Given the description of an element on the screen output the (x, y) to click on. 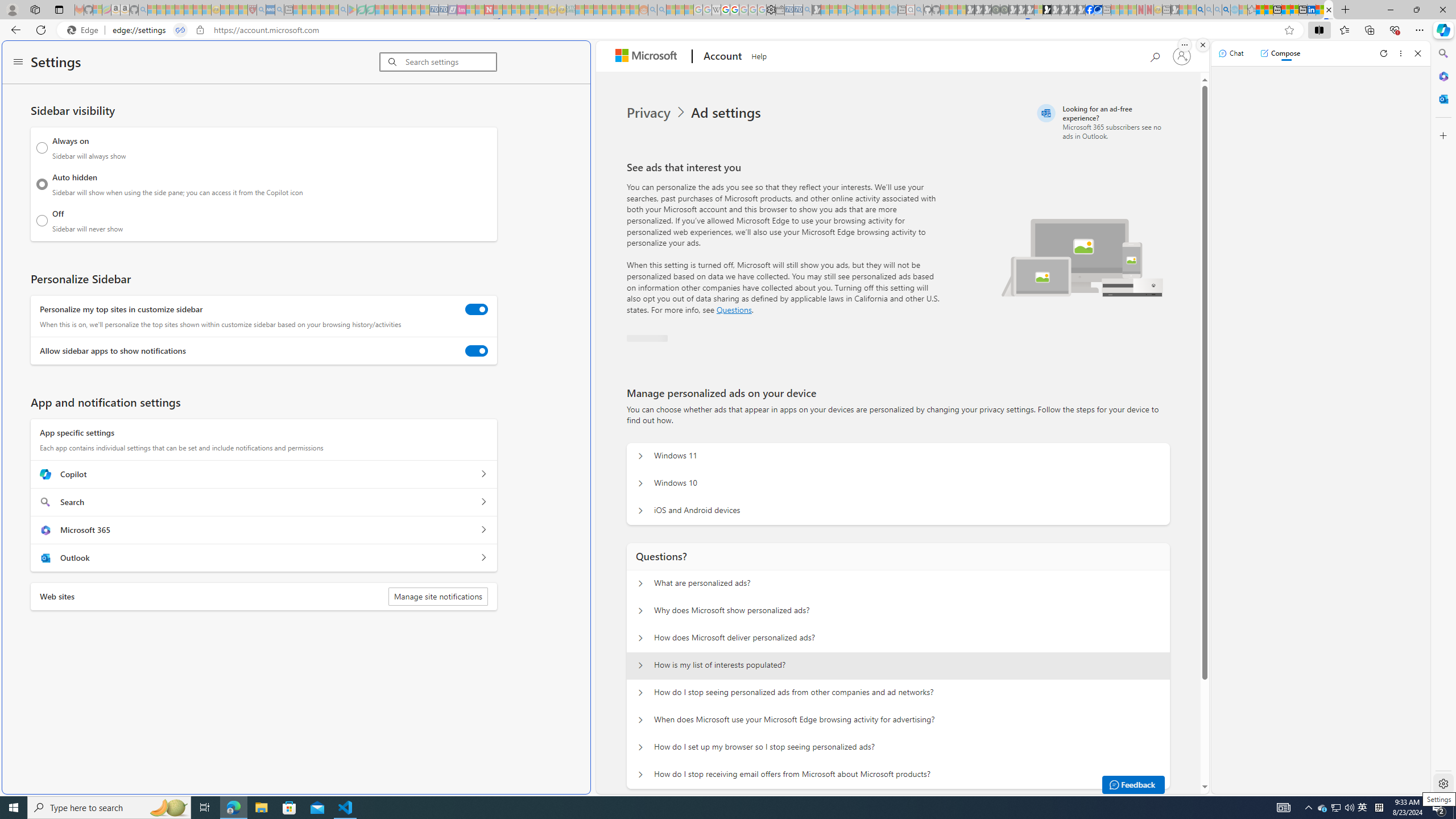
Account (721, 56)
Microsoft (648, 56)
utah sues federal government - Search - Sleeping (279, 9)
Questions? Why does Microsoft show personalized ads? (640, 610)
Tabs in split screen (180, 29)
Manage personalized ads on your device Windows 11 (640, 455)
